Given the description of an element on the screen output the (x, y) to click on. 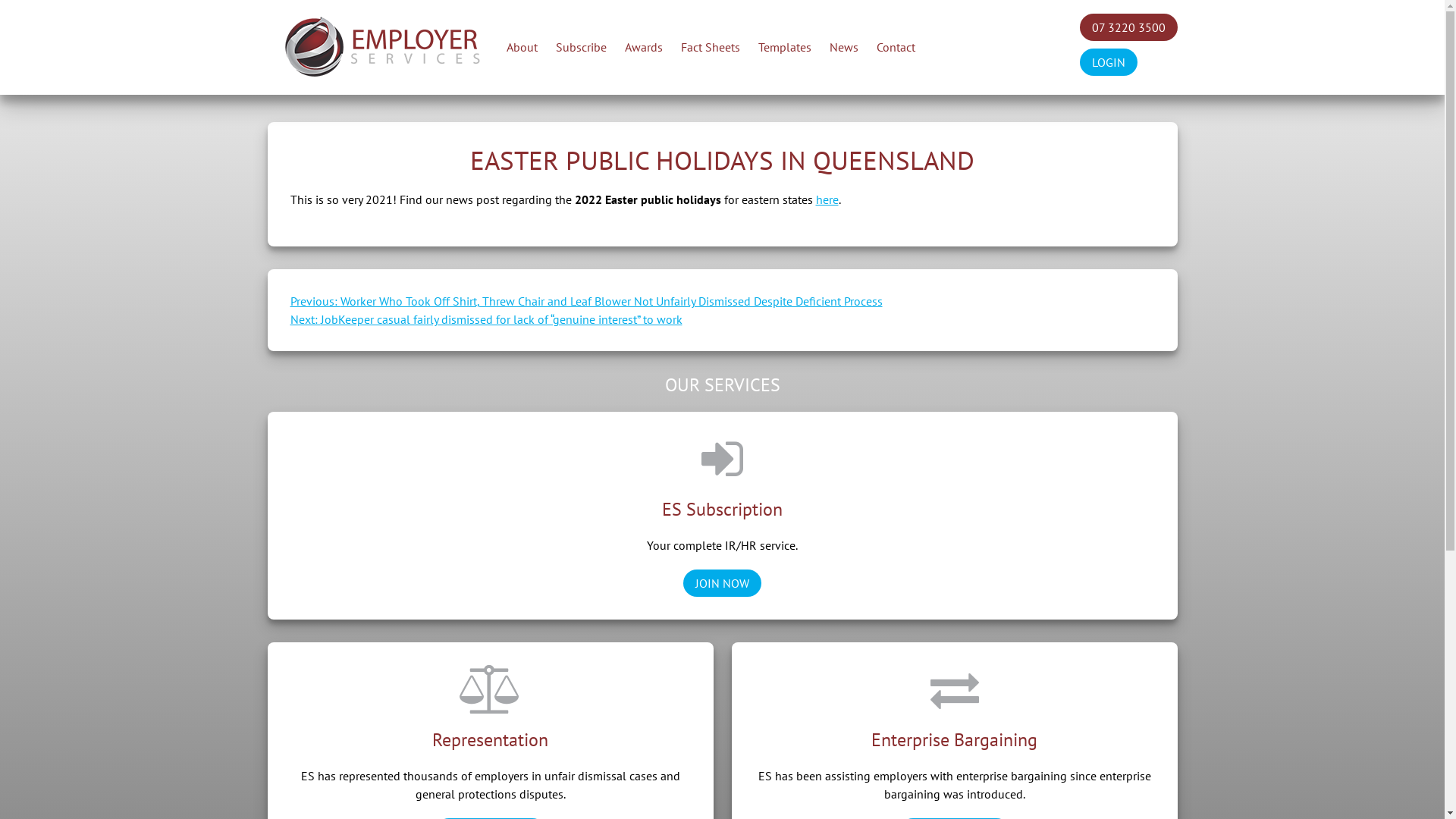
LOGIN Element type: text (1108, 61)
here Element type: text (826, 199)
Contact Element type: text (895, 47)
07 3220 3500 Element type: text (1128, 26)
Awards Element type: text (643, 47)
News Element type: text (844, 47)
About Element type: text (521, 47)
Subscribe Element type: text (580, 47)
Fact Sheets Element type: text (710, 47)
JOIN NOW Element type: text (722, 582)
Templates Element type: text (784, 47)
